Given the description of an element on the screen output the (x, y) to click on. 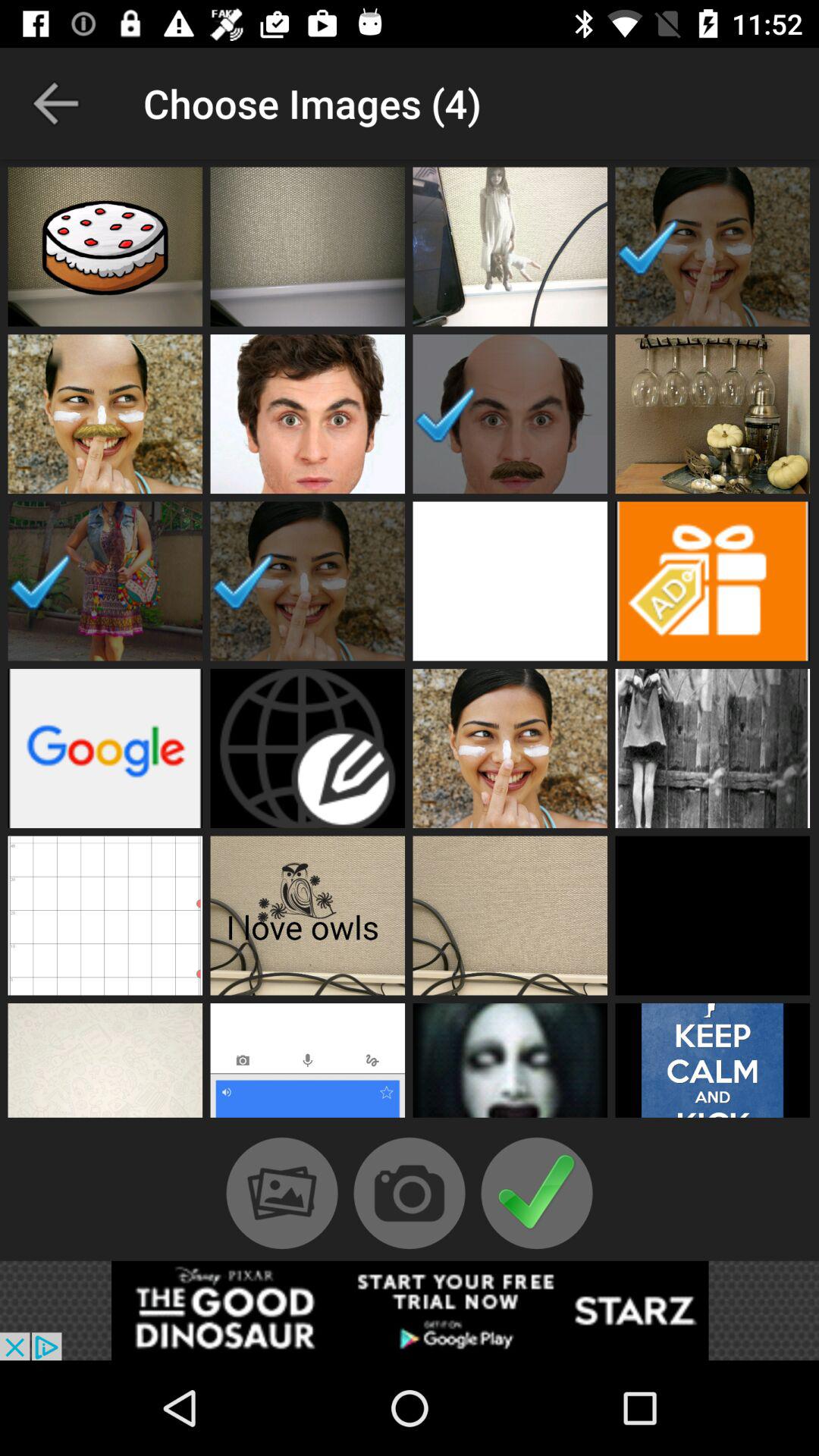
advertisements image (712, 580)
